Given the description of an element on the screen output the (x, y) to click on. 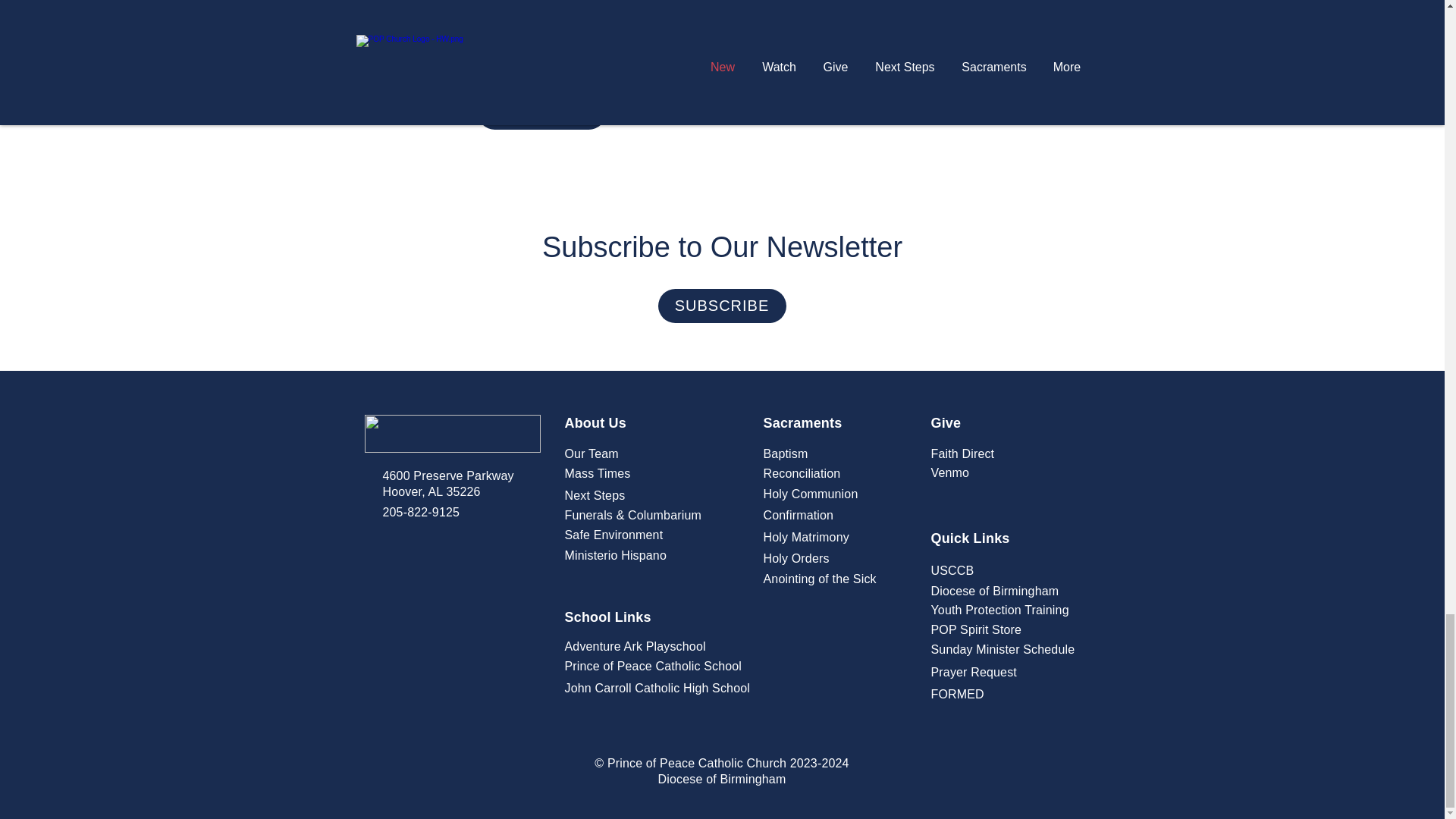
Our Team (590, 453)
Ministerio Hispano (615, 554)
John Carroll Catholic High School (656, 687)
Baptism (785, 453)
Adventure Ark Playschool (634, 645)
Next Steps (594, 495)
205-822-9125 (420, 512)
Reconciliation (801, 472)
SUBSCRIBE (722, 305)
Holy Communion (809, 493)
